Given the description of an element on the screen output the (x, y) to click on. 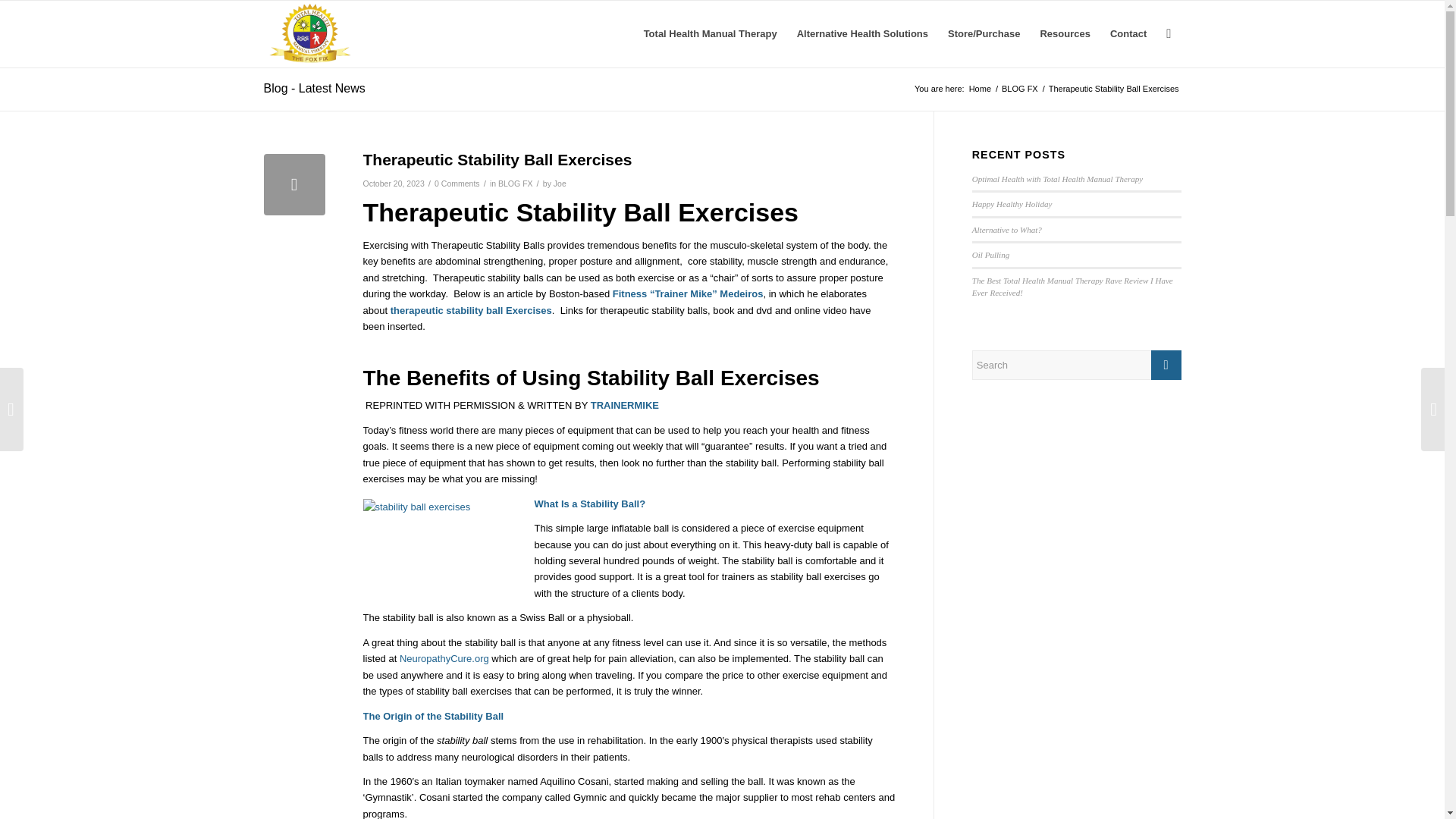
Home (979, 89)
Resources (1064, 33)
NeuropathyCure.org (443, 658)
Total Health Manual Therapy (710, 33)
because ninjas need to stay fit! (443, 553)
BLOG FX (1019, 89)
Permanent Link: Blog - Latest News (314, 88)
Oil Pulling (990, 254)
Optimal Health with Total Health Manual Therapy (1057, 178)
View all posts by trainermike (625, 405)
